Given the description of an element on the screen output the (x, y) to click on. 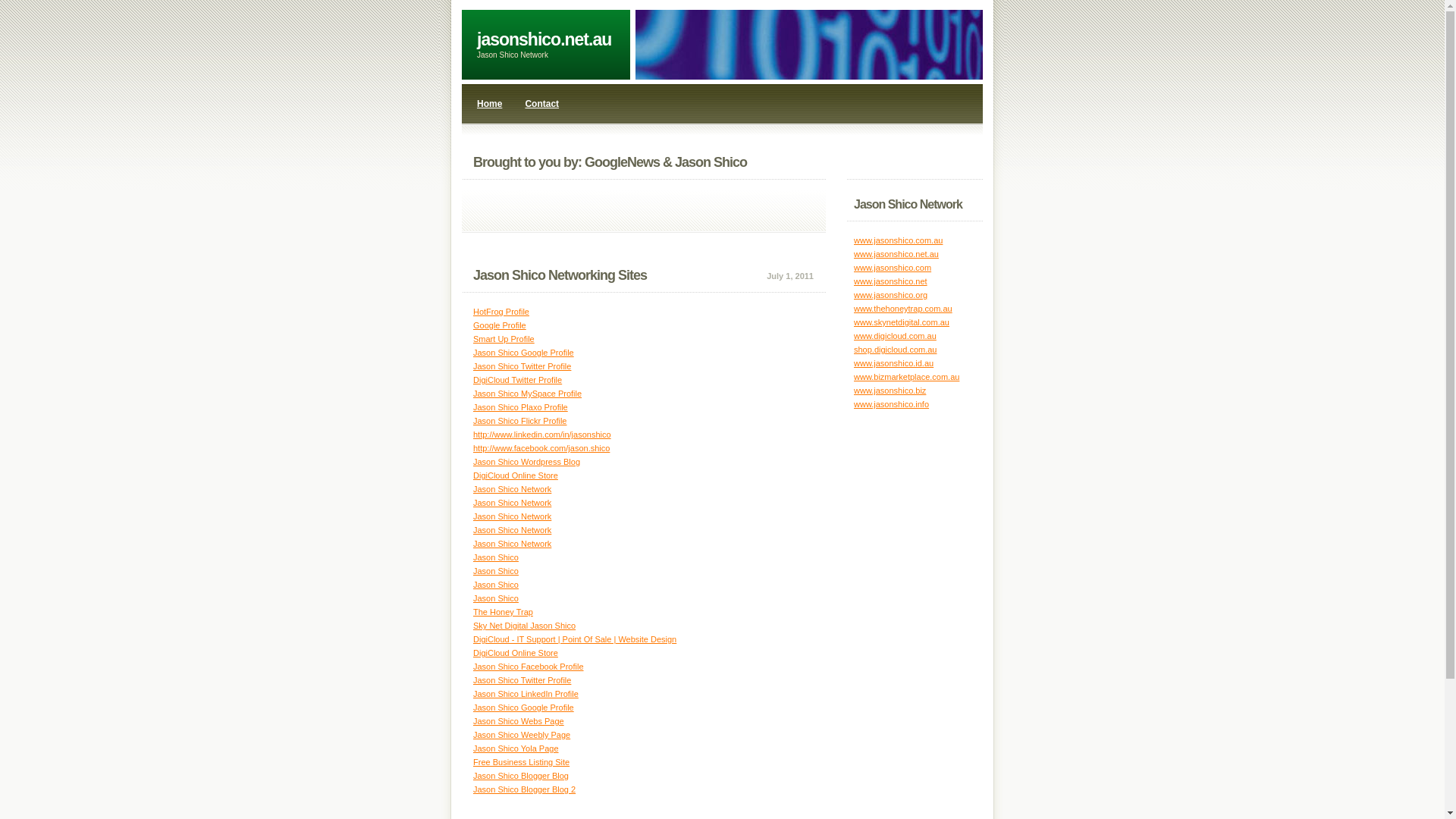
Jason Shico Element type: text (495, 556)
www.thehoneytrap.com.au Element type: text (902, 308)
www.jasonshico.com.au Element type: text (897, 239)
HotFrog Profile Element type: text (501, 311)
Jason Shico Yola Page Element type: text (515, 748)
Jason Shico Wordpress Blog Element type: text (526, 461)
Google Profile Element type: text (499, 324)
Jason Shico Twitter Profile Element type: text (522, 679)
www.jasonshico.com Element type: text (892, 267)
Jason Shico Element type: text (495, 597)
Jason Shico Element type: text (495, 584)
Jason Shico Blogger Blog 2 Element type: text (524, 788)
Jason Shico Twitter Profile Element type: text (522, 365)
Jason Shico Network Element type: text (512, 502)
http://www.facebook.com/jason.shico Element type: text (541, 447)
Jason Shico Google Profile Element type: text (523, 352)
DigiCloud - IT Support | Point Of Sale | Website Design Element type: text (574, 638)
www.skynetdigital.com.au Element type: text (901, 321)
www.jasonshico.id.au Element type: text (893, 362)
Jason Shico Weebly Page Element type: text (521, 734)
www.jasonshico.biz Element type: text (889, 390)
Free Business Listing Site Element type: text (521, 761)
Jason Shico Network Element type: text (512, 515)
Jason Shico Webs Page Element type: text (518, 720)
www.digicloud.com.au Element type: text (894, 335)
Jason Shico Network Element type: text (512, 488)
www.jasonshico.net.au Element type: text (895, 253)
DigiCloud Online Store Element type: text (515, 652)
Sky Net Digital Jason Shico Element type: text (524, 625)
www.jasonshico.net Element type: text (890, 280)
shop.digicloud.com.au Element type: text (894, 349)
Jason Shico LinkedIn Profile Element type: text (525, 693)
Jason Shico Facebook Profile Element type: text (528, 666)
www.jasonshico.org Element type: text (890, 294)
www.bizmarketplace.com.au Element type: text (906, 376)
Jason Shico Network Element type: text (512, 543)
DigiCloud Twitter Profile Element type: text (517, 379)
Jason Shico Flickr Profile Element type: text (520, 420)
Contact Element type: text (541, 103)
The Honey Trap Element type: text (503, 611)
Jason Shico MySpace Profile Element type: text (527, 393)
Jason Shico Plaxo Profile Element type: text (520, 406)
Jason Shico Element type: text (495, 570)
Home Element type: text (489, 103)
Smart Up Profile Element type: text (503, 338)
Jason Shico Network Element type: text (512, 529)
http://www.linkedin.com/in/jasonshico Element type: text (542, 434)
Jason Shico Google Profile Element type: text (523, 707)
Jason Shico Blogger Blog Element type: text (520, 775)
DigiCloud Online Store Element type: text (515, 475)
www.jasonshico.info Element type: text (890, 403)
